Given the description of an element on the screen output the (x, y) to click on. 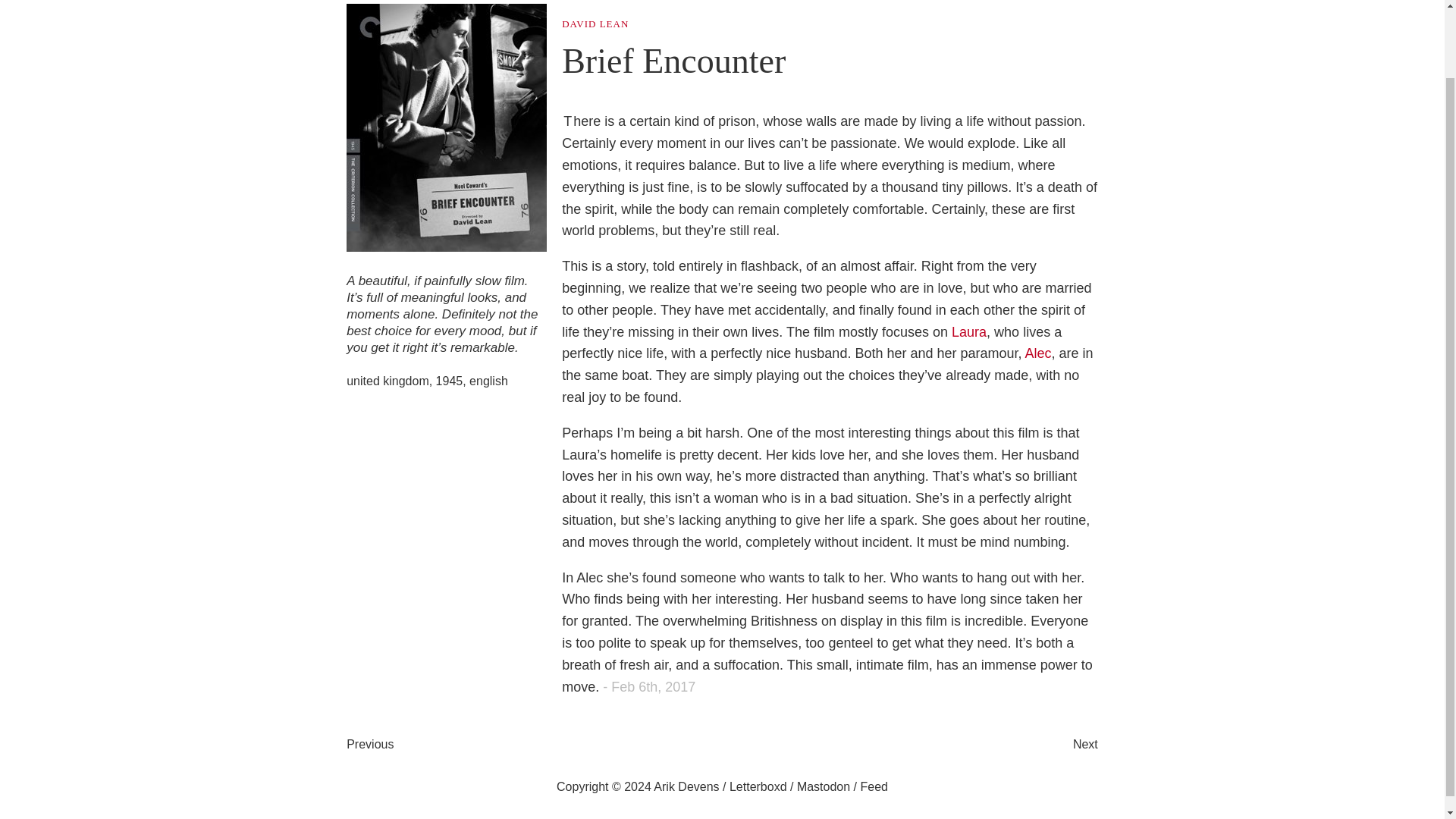
Previous (369, 744)
DAVID LEAN (595, 23)
english (488, 380)
united kingdom (387, 380)
1945 (449, 380)
Arik Devens (686, 786)
